Given the description of an element on the screen output the (x, y) to click on. 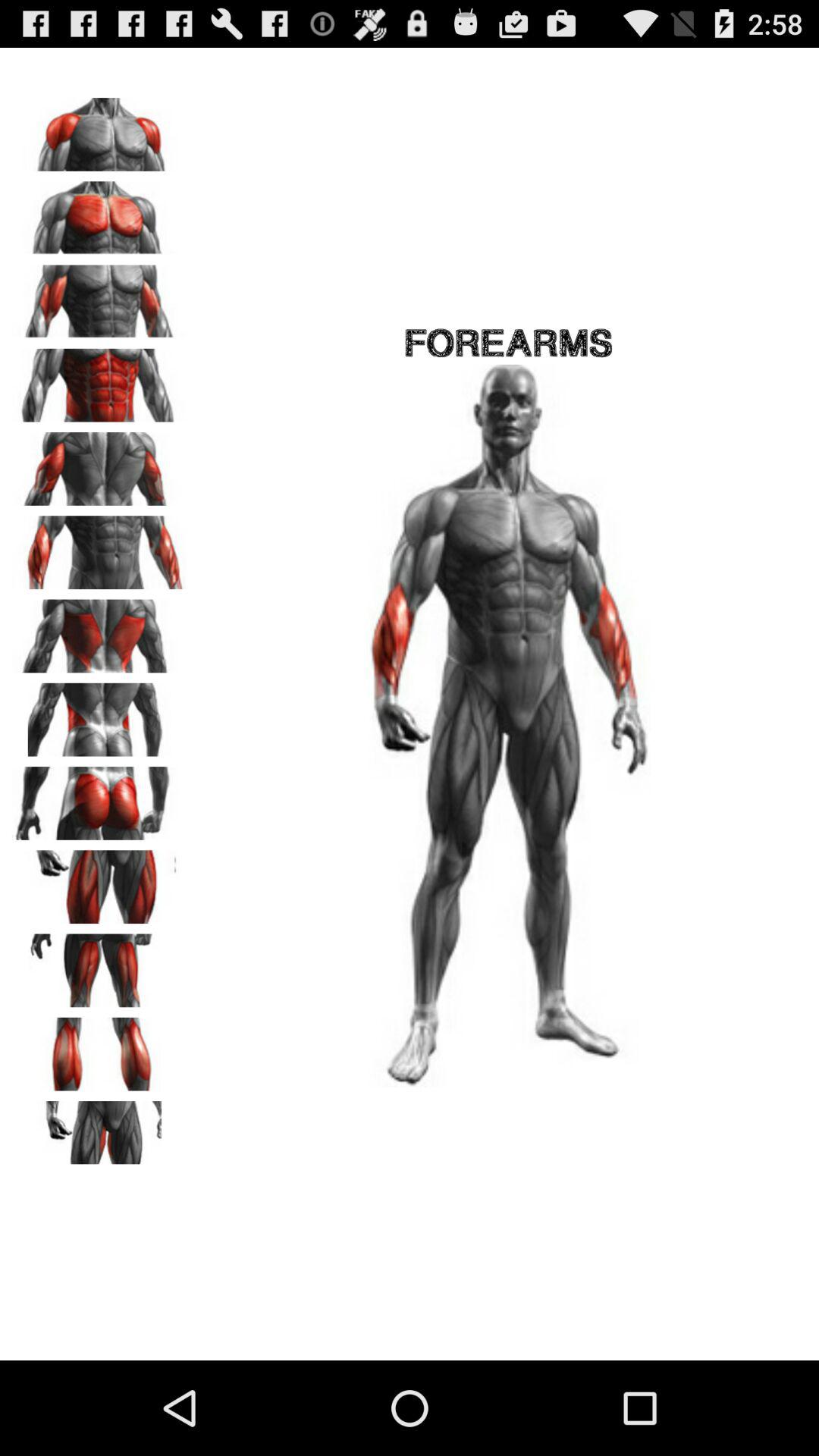
see image (99, 630)
